Given the description of an element on the screen output the (x, y) to click on. 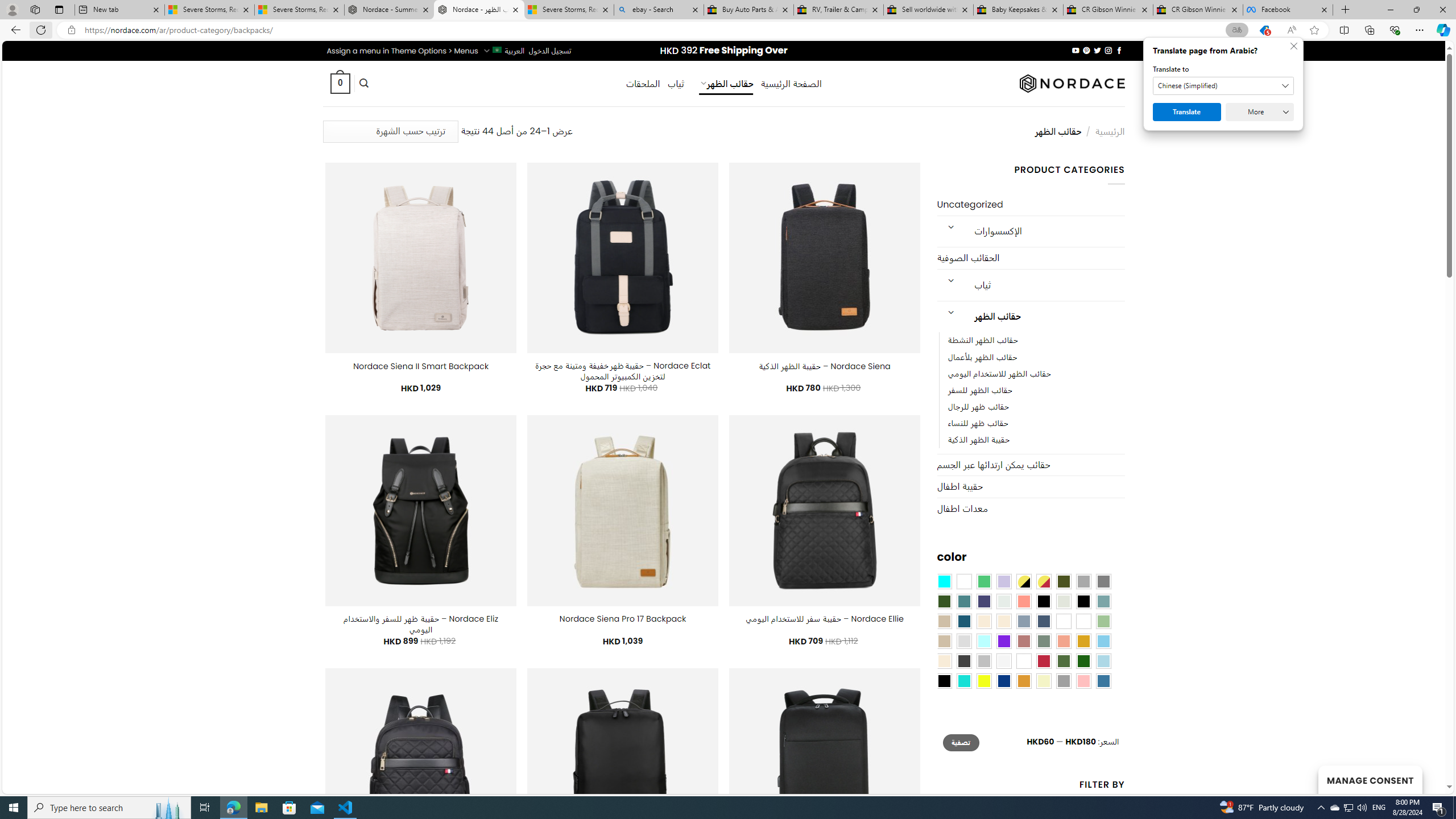
Sage (1043, 640)
RV, Trailer & Camper Steps & Ladders for sale | eBay (838, 9)
Light Green (1103, 621)
Buy Auto Parts & Accessories | eBay (747, 9)
Sell worldwide with eBay (928, 9)
Assign a menu in Theme Options > Menus (402, 50)
Address and search bar (653, 29)
Follow on YouTube (1074, 50)
